Given the description of an element on the screen output the (x, y) to click on. 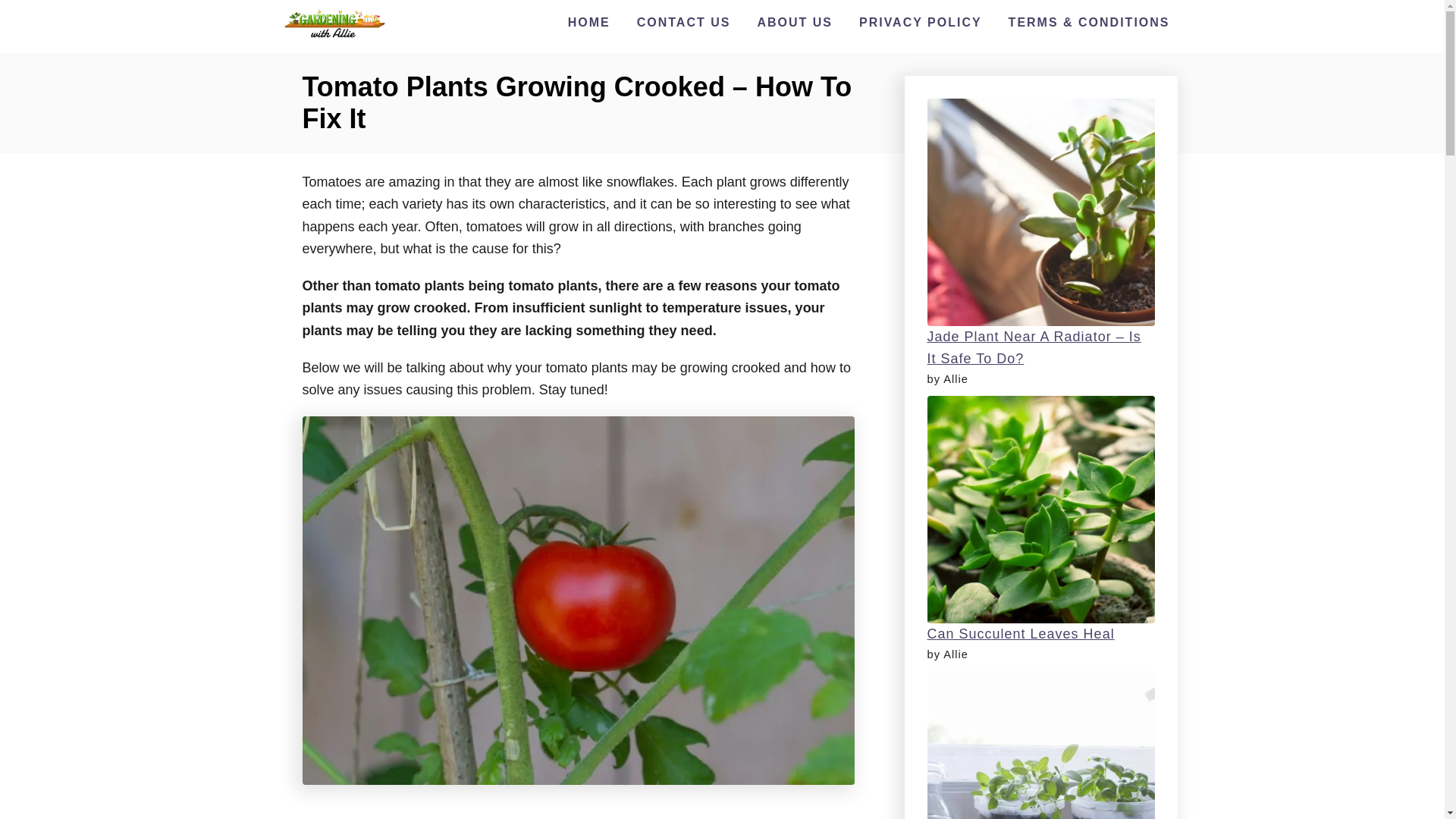
CONTACT US (683, 22)
ABOUT US (794, 22)
HOME (588, 22)
Can Succulent Leaves Heal (1019, 633)
PRIVACY POLICY (920, 22)
